Given the description of an element on the screen output the (x, y) to click on. 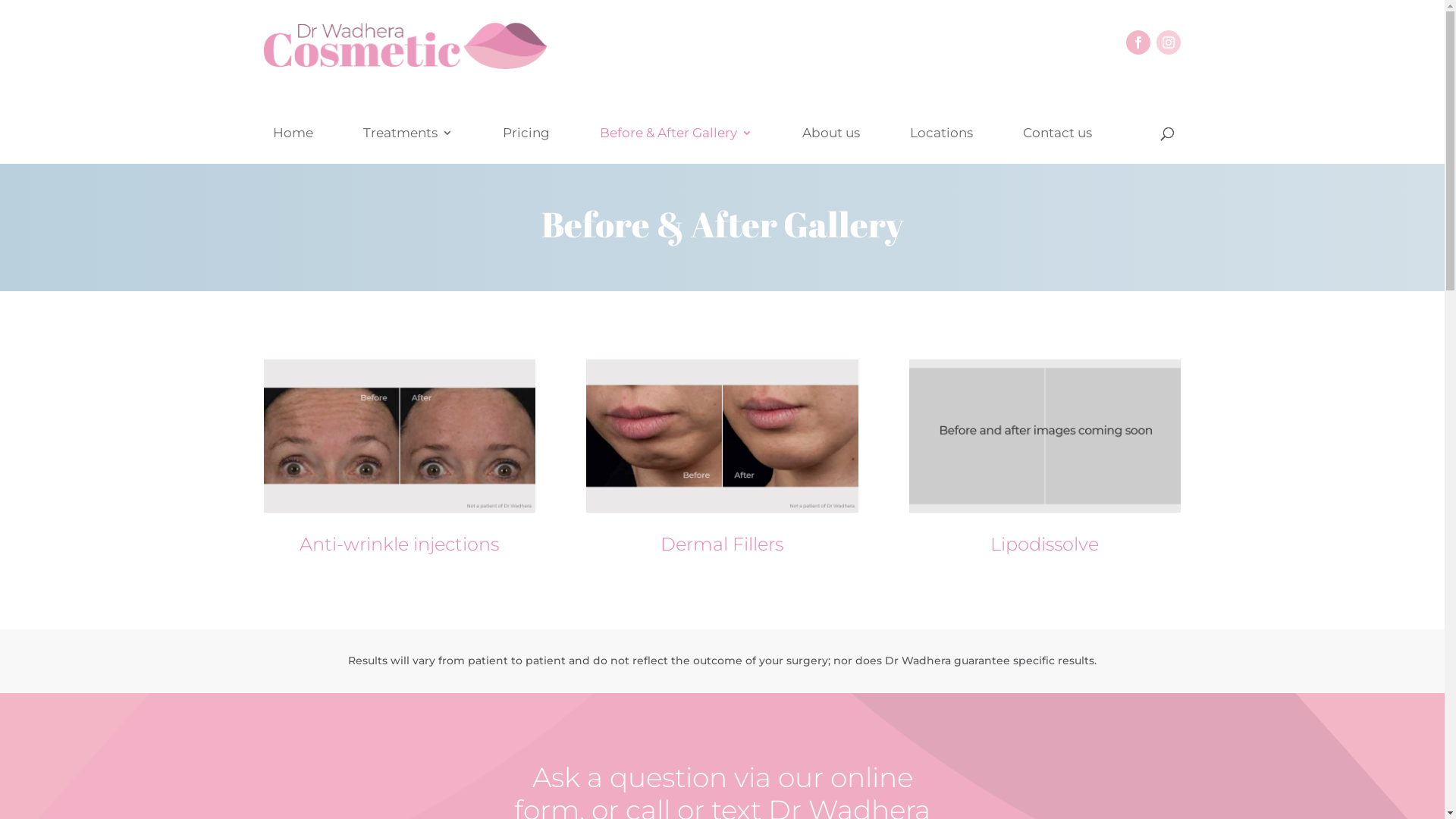
Before & After Gallery Element type: text (675, 145)
Contact us Element type: text (1056, 145)
Home Element type: text (293, 145)
Locations Element type: text (941, 145)
Anti-wrinkle injections Element type: text (398, 544)
Pricing Element type: text (525, 145)
Instagram Element type: hover (1168, 42)
Lipodissolve Element type: text (1044, 544)
Dermal Fillers Element type: text (721, 544)
About us Element type: text (830, 145)
Facebook Element type: hover (1138, 42)
Treatments Element type: text (406, 145)
